Given the description of an element on the screen output the (x, y) to click on. 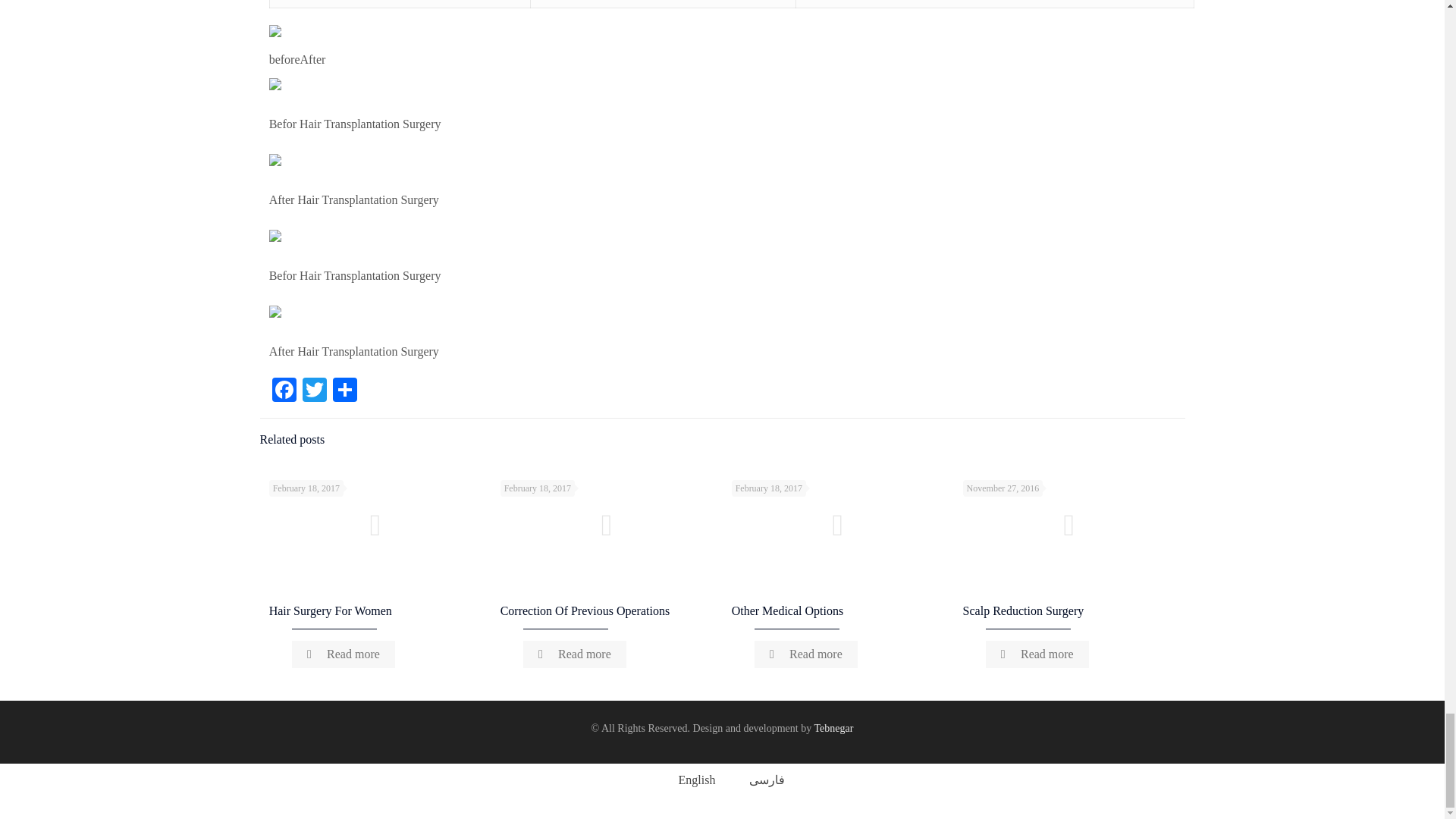
Facebook (284, 391)
Twitter (314, 391)
